Given the description of an element on the screen output the (x, y) to click on. 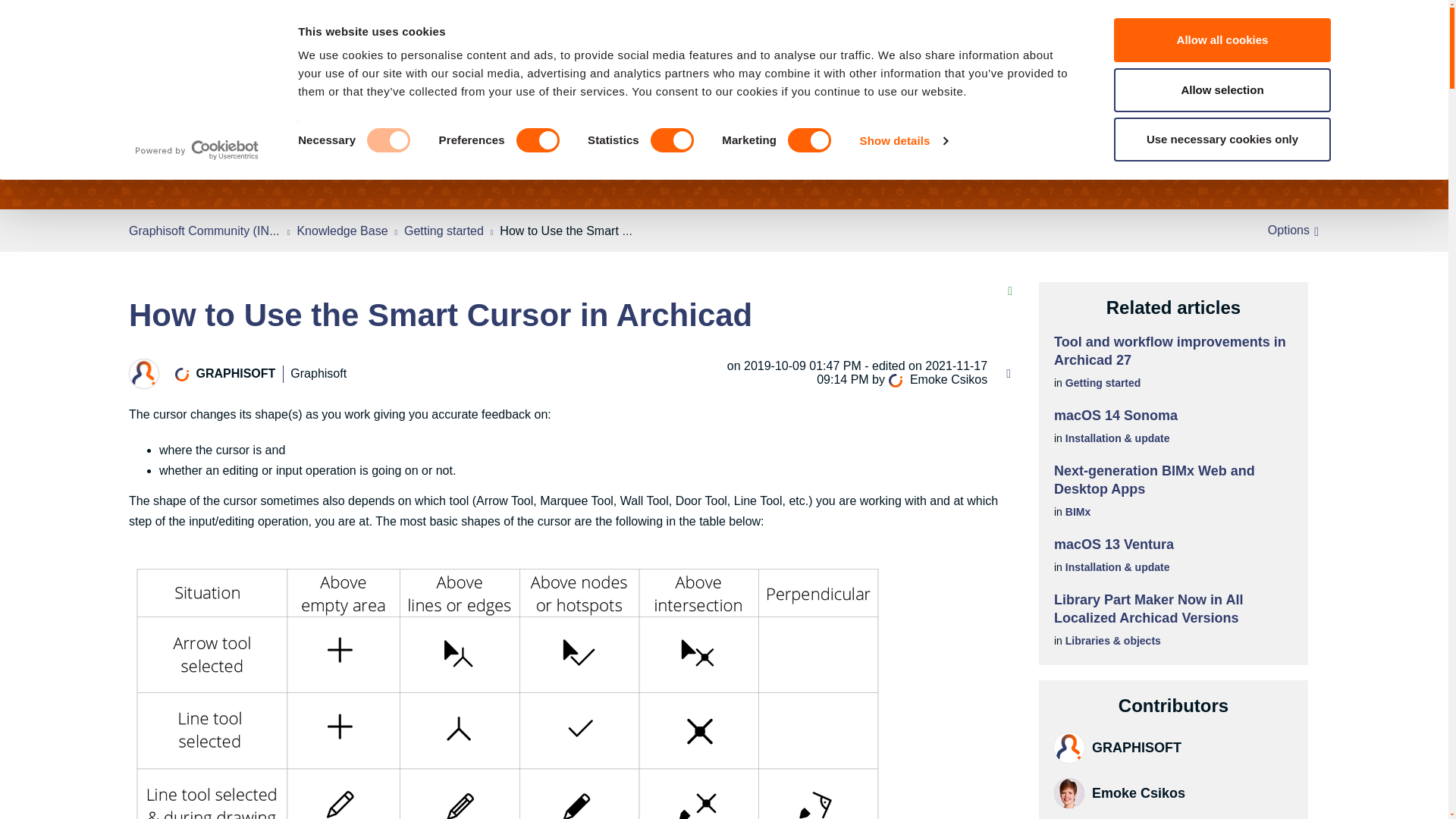
Show details (903, 140)
Search (167, 24)
Search (167, 24)
